Given the description of an element on the screen output the (x, y) to click on. 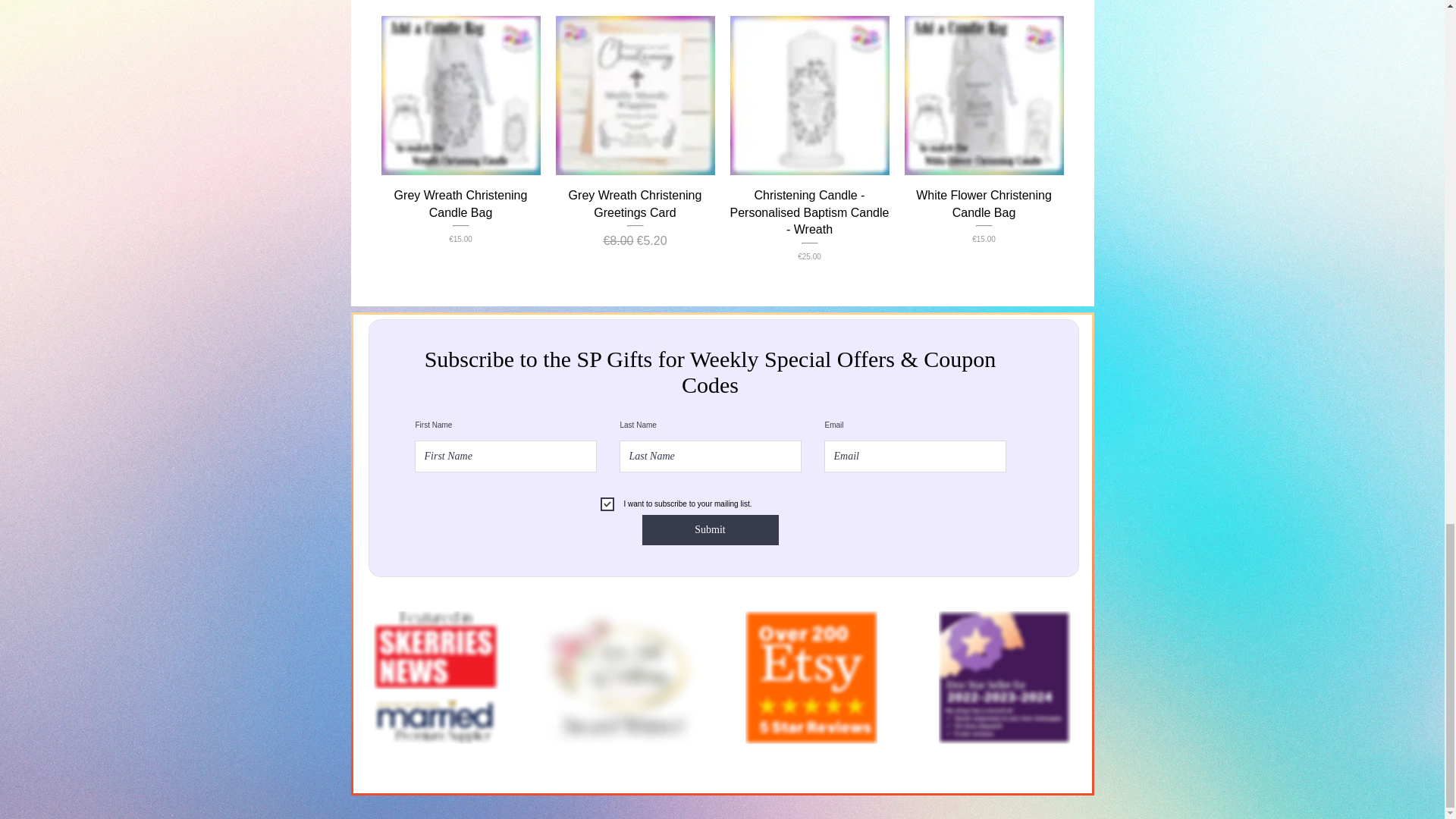
Screenshot 2024-07-03 at 19.20.53.png (622, 676)
Superb Customer Service - Irish Small Business (1004, 676)
Award Winning Small Irish Business (810, 676)
Skerries News Co Dublin (434, 649)
Help me Im getting Married Ireland Supplier (434, 720)
